Given the description of an element on the screen output the (x, y) to click on. 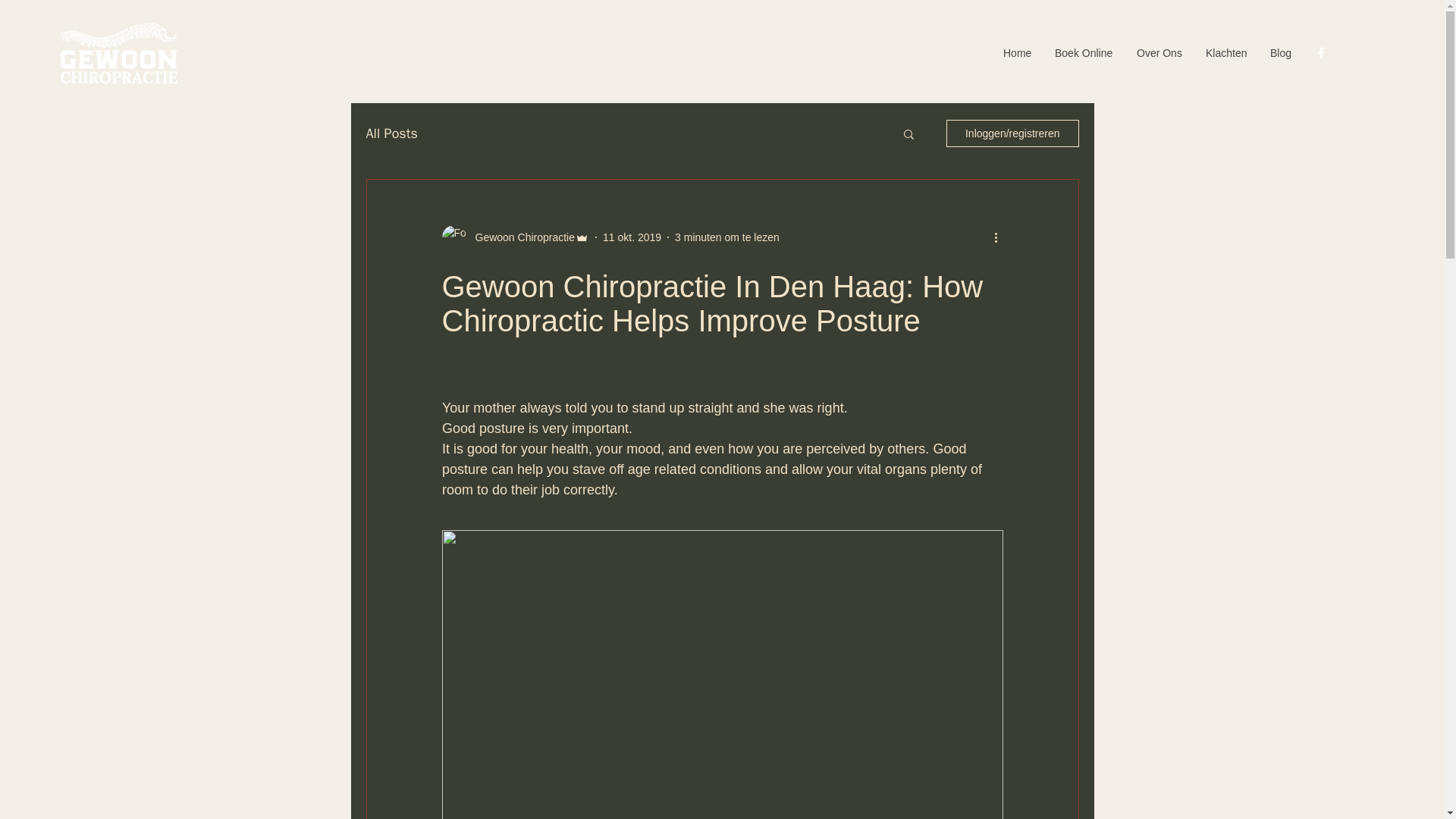
Over Ons (1159, 52)
Gewoon Chiropractie (520, 236)
Klachten (1226, 52)
3 minuten om te lezen (726, 236)
Boek Online (1084, 52)
All Posts (390, 133)
Home (1017, 52)
Blog (1281, 52)
11 okt. 2019 (631, 236)
